Given the description of an element on the screen output the (x, y) to click on. 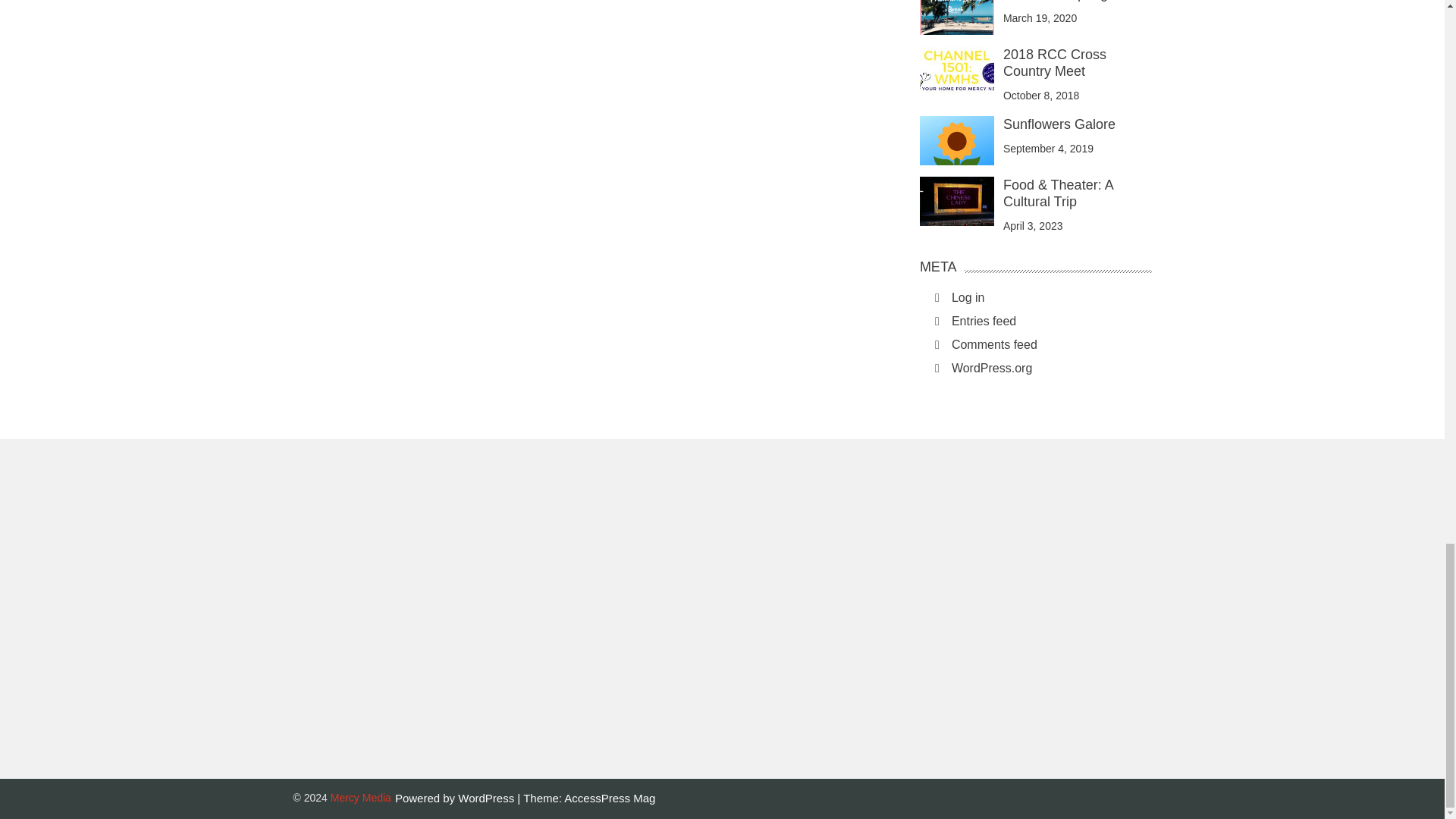
AccessPress Themes (609, 797)
